Given the description of an element on the screen output the (x, y) to click on. 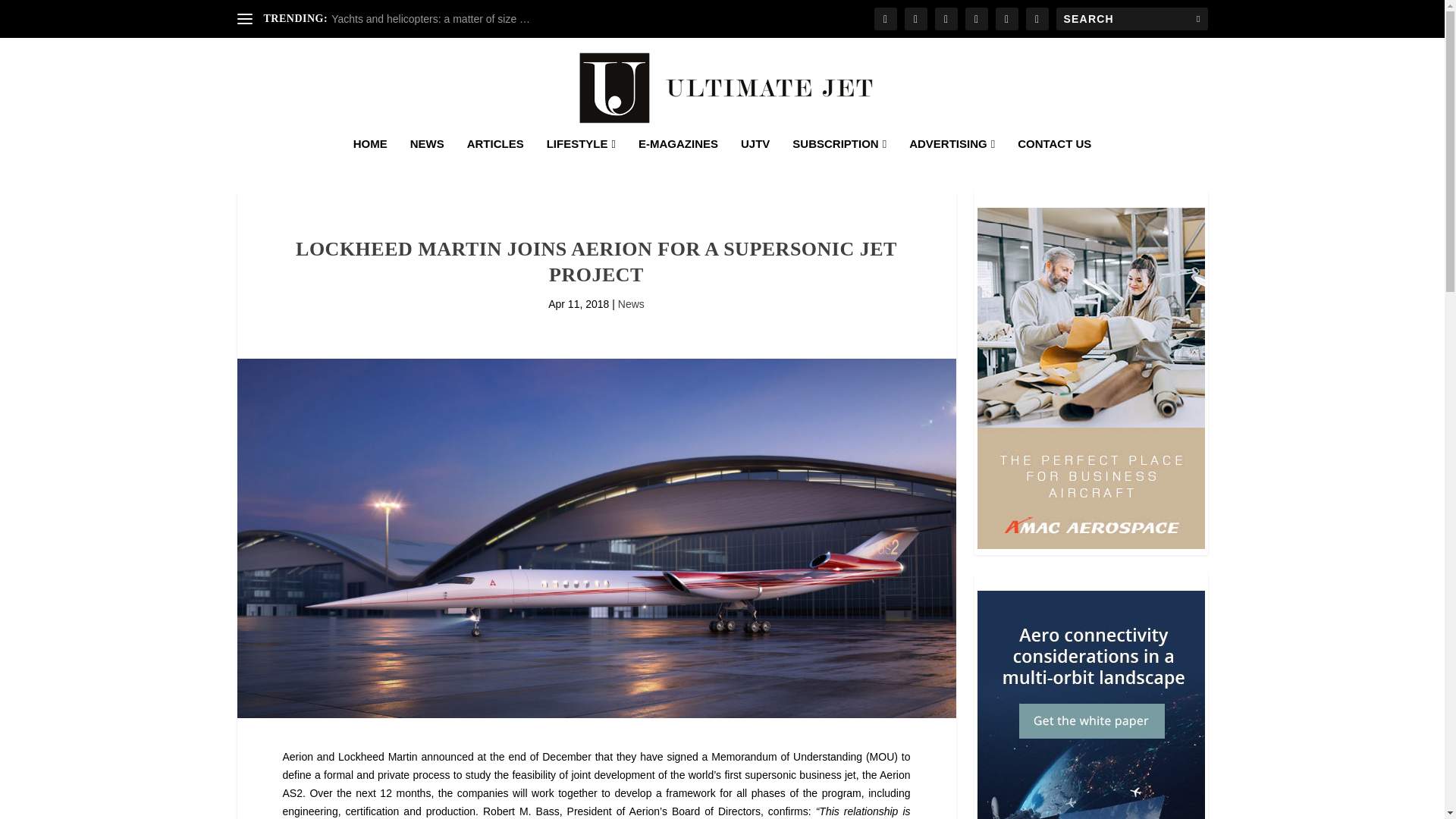
Search for: (1131, 18)
ARTICLES (495, 164)
LIFESTYLE (581, 164)
ADVERTISING (951, 164)
SUBSCRIPTION (839, 164)
E-MAGAZINES (678, 164)
